Given the description of an element on the screen output the (x, y) to click on. 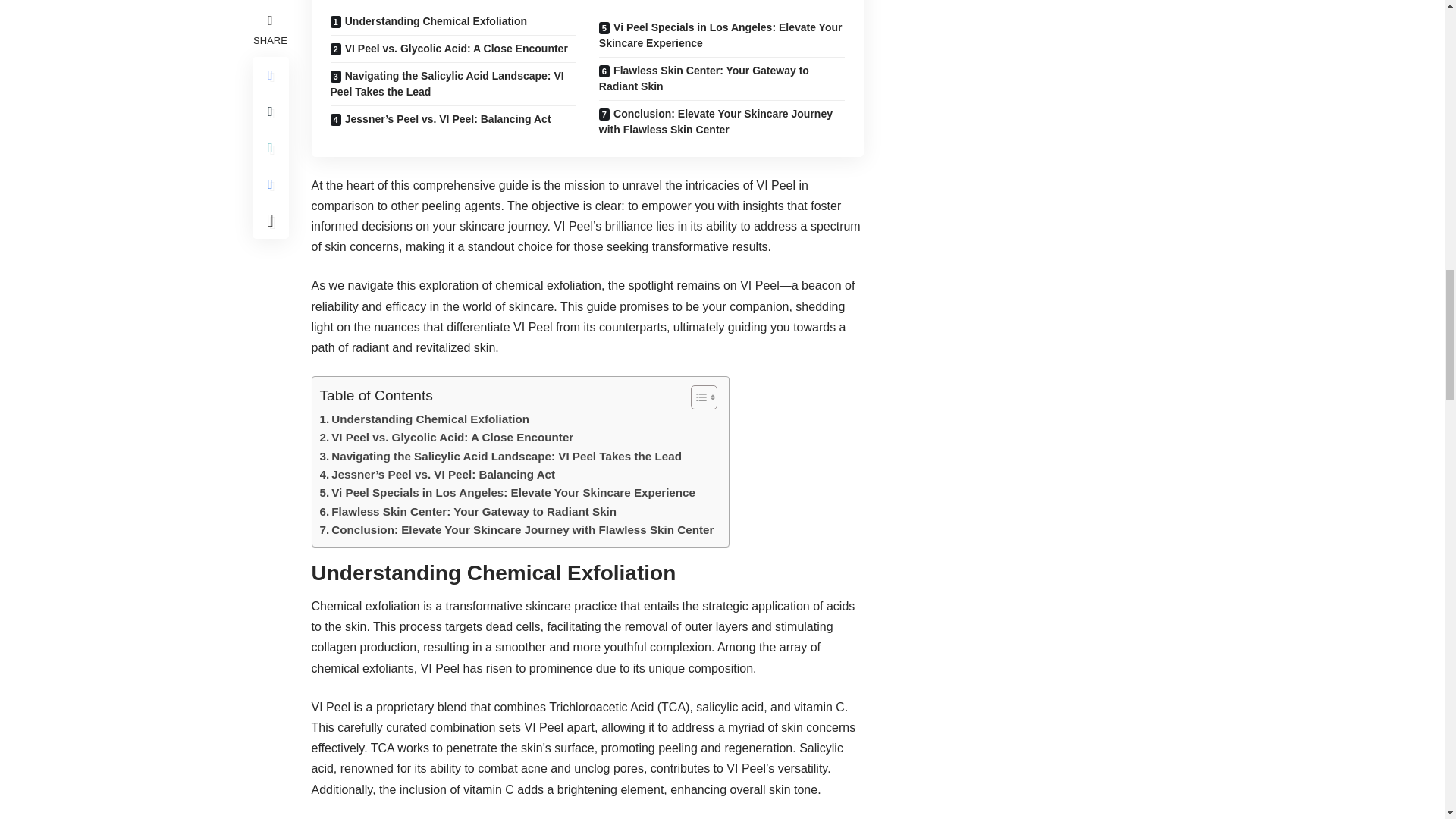
Understanding Chemical Exfoliation (424, 419)
VI Peel vs. Glycolic Acid: A Close Encounter (446, 437)
Flawless Skin Center: Your Gateway to Radiant Skin (468, 511)
